Given the description of an element on the screen output the (x, y) to click on. 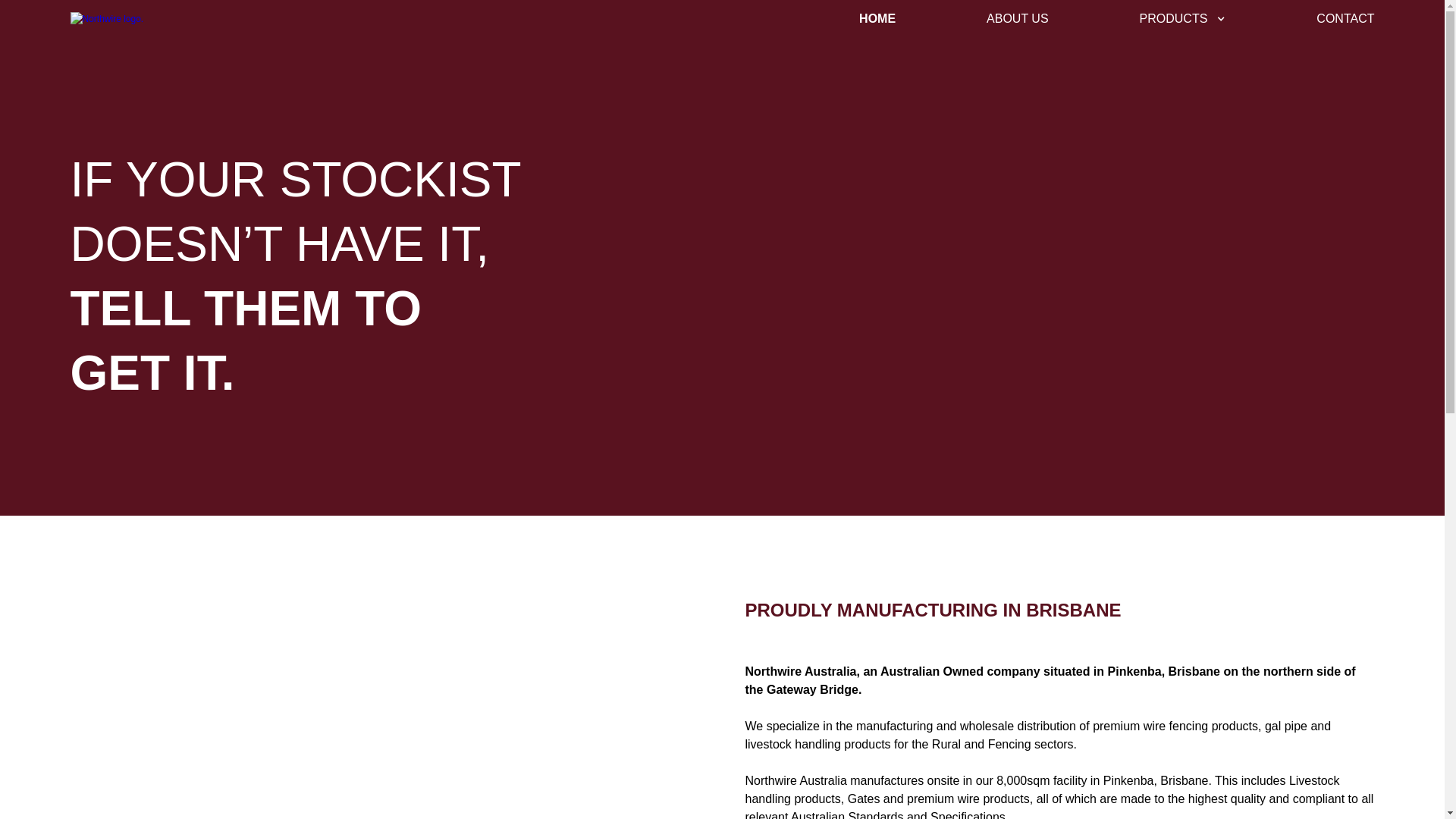
CONTACT Element type: text (1345, 18)
ABOUT US Element type: text (1017, 18)
HOME Element type: text (877, 18)
